Given the description of an element on the screen output the (x, y) to click on. 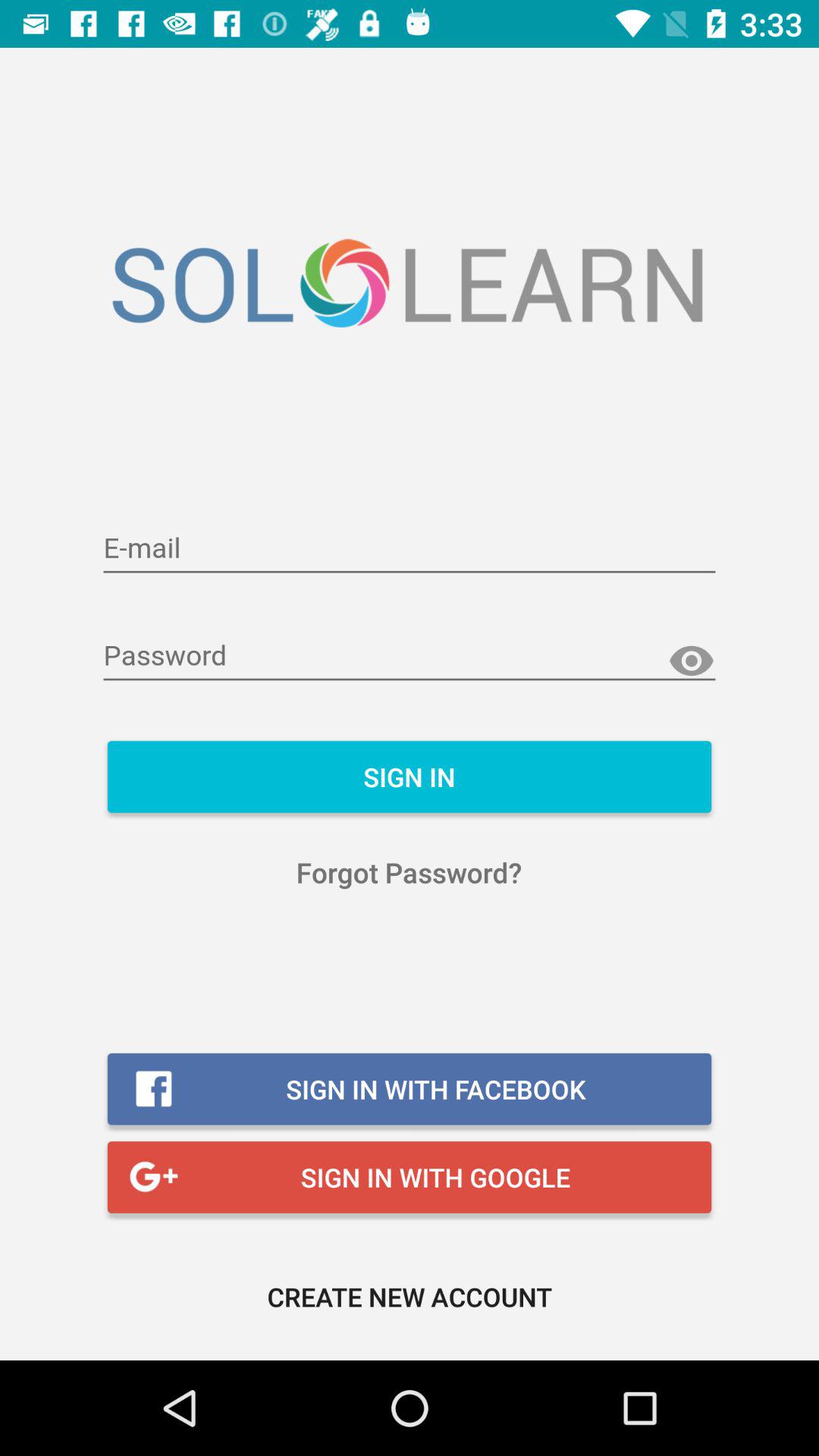
flip to create new account (409, 1296)
